Given the description of an element on the screen output the (x, y) to click on. 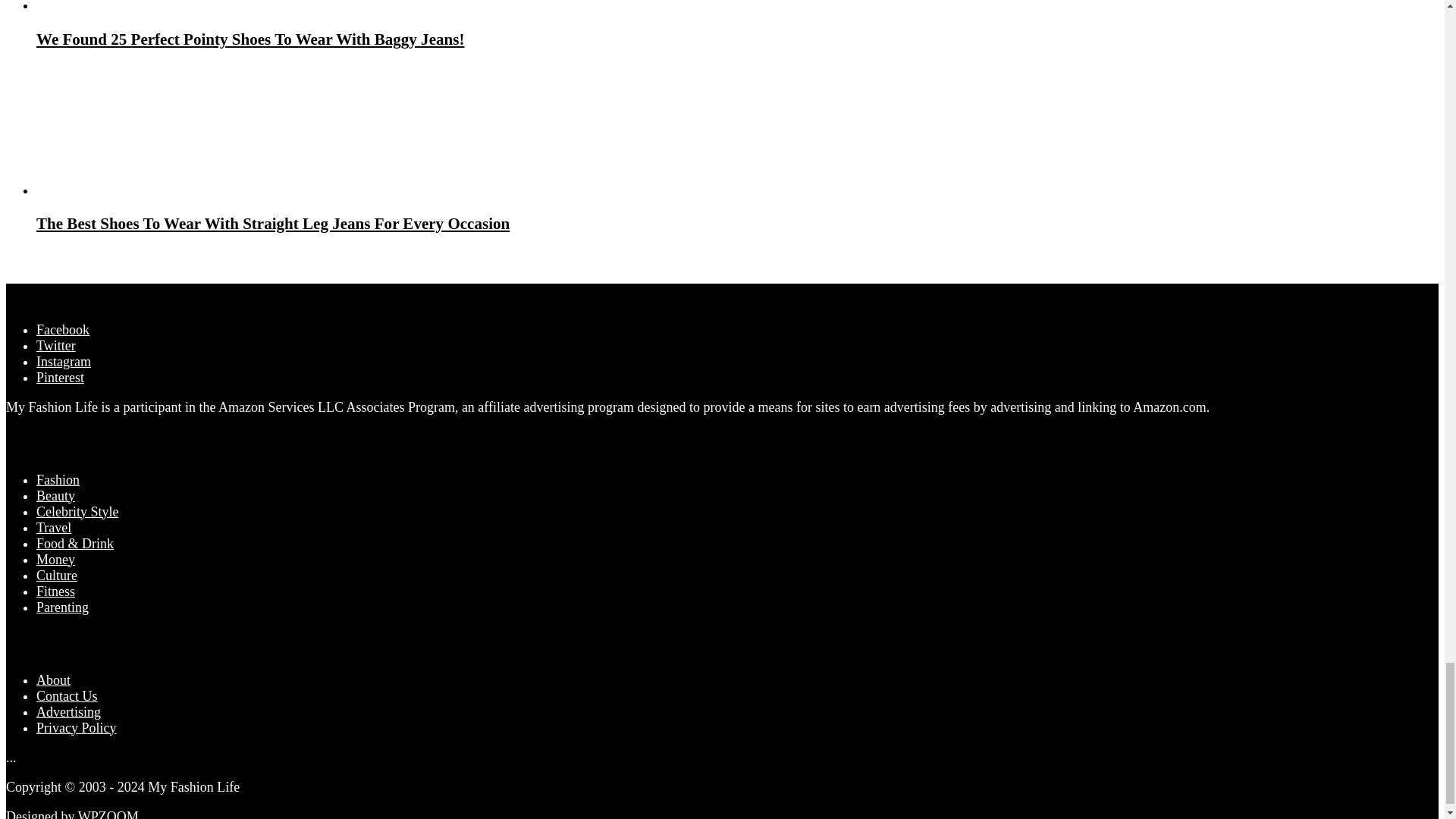
Twitter (55, 345)
Instagram (63, 361)
Facebook (62, 329)
Pinterest (60, 377)
